Given the description of an element on the screen output the (x, y) to click on. 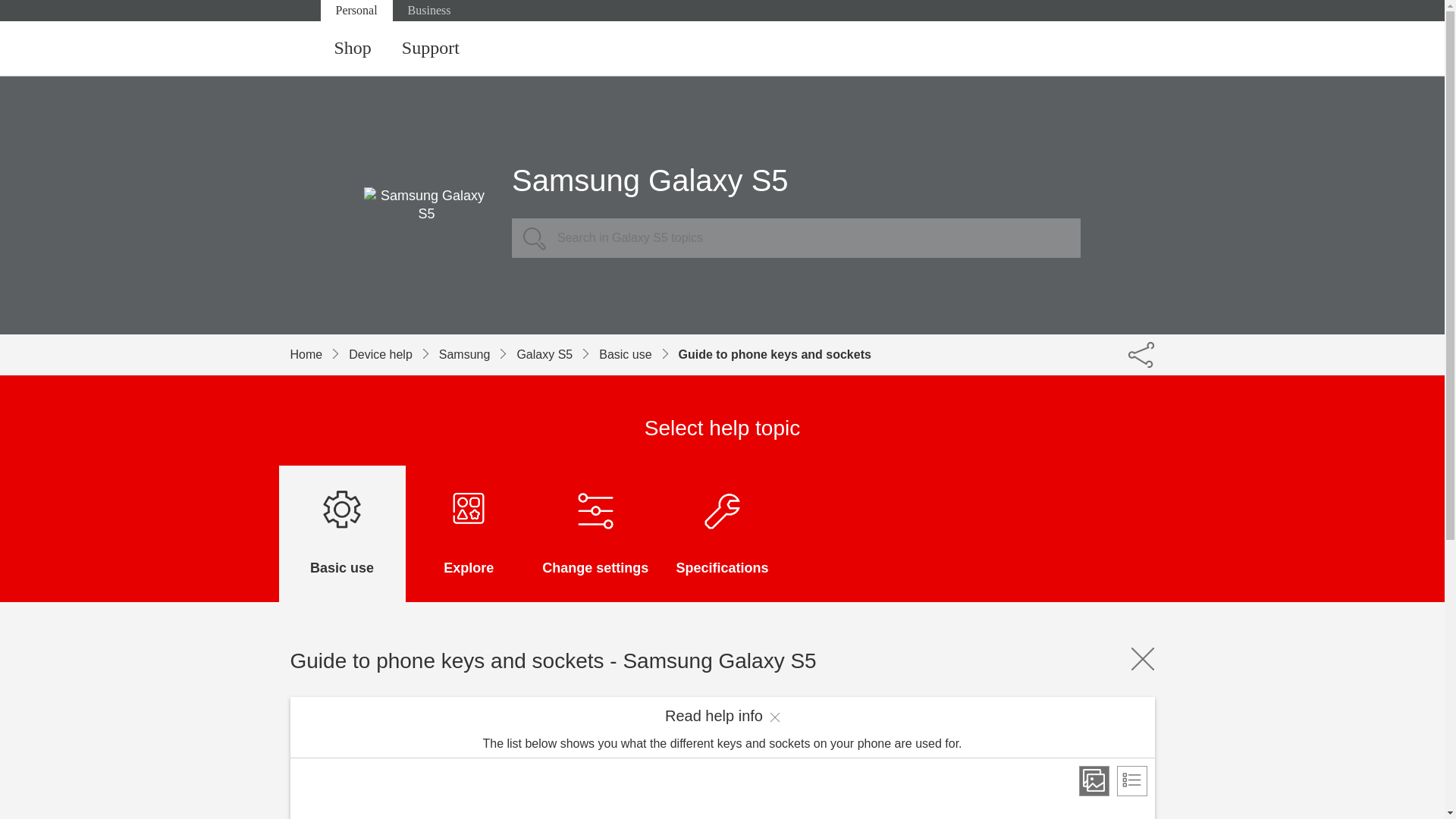
Galaxy S5 (557, 354)
My Vodafone (1079, 48)
Guide to phone keys and sockets (774, 354)
Shop (351, 48)
Basic use (638, 354)
Samsung (477, 354)
Home (319, 354)
Menu (1139, 48)
Support (430, 48)
Device help (394, 354)
Business (429, 10)
Personal (355, 10)
